Given the description of an element on the screen output the (x, y) to click on. 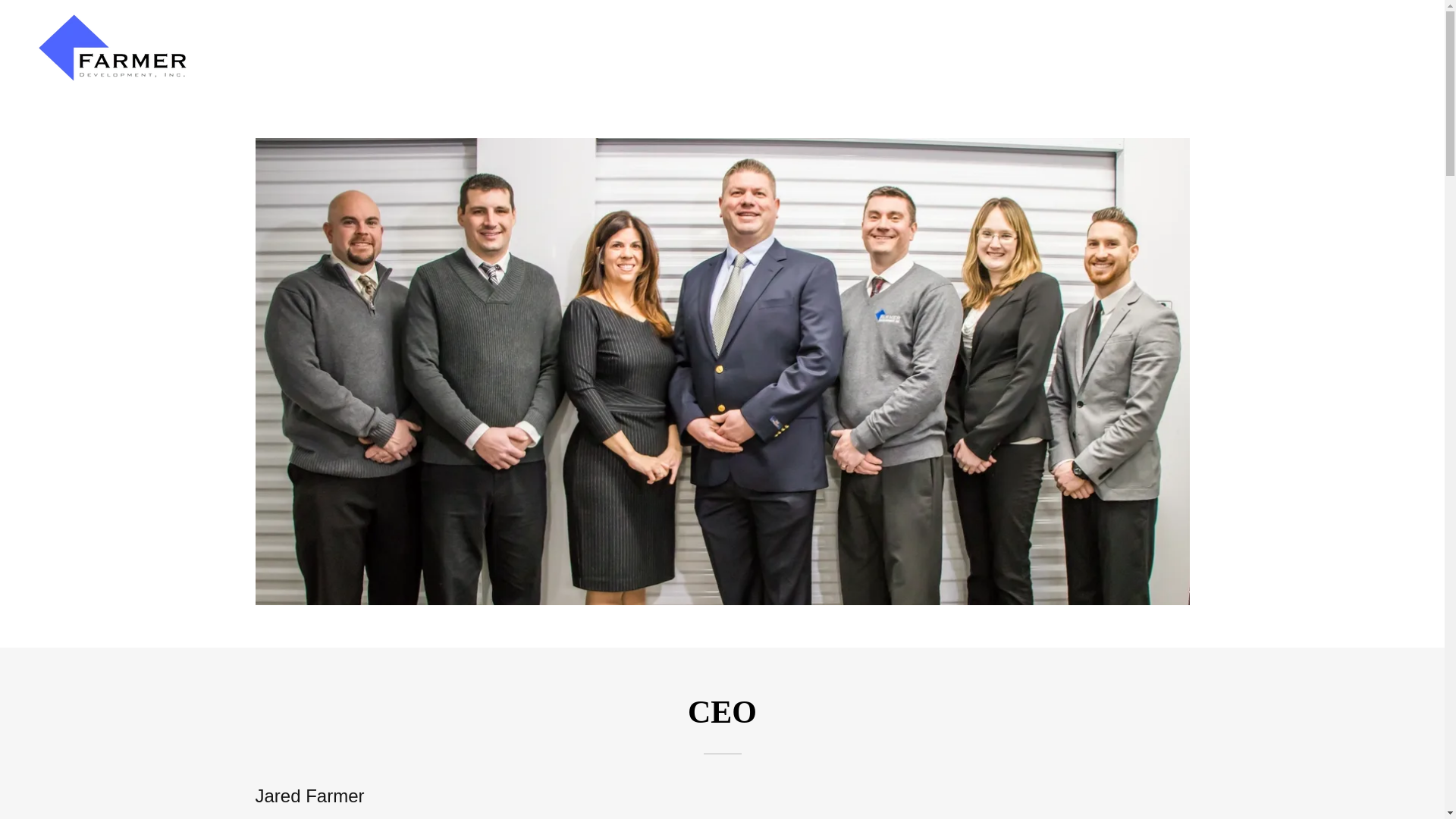
Farmer Development Inc. (112, 46)
